Given the description of an element on the screen output the (x, y) to click on. 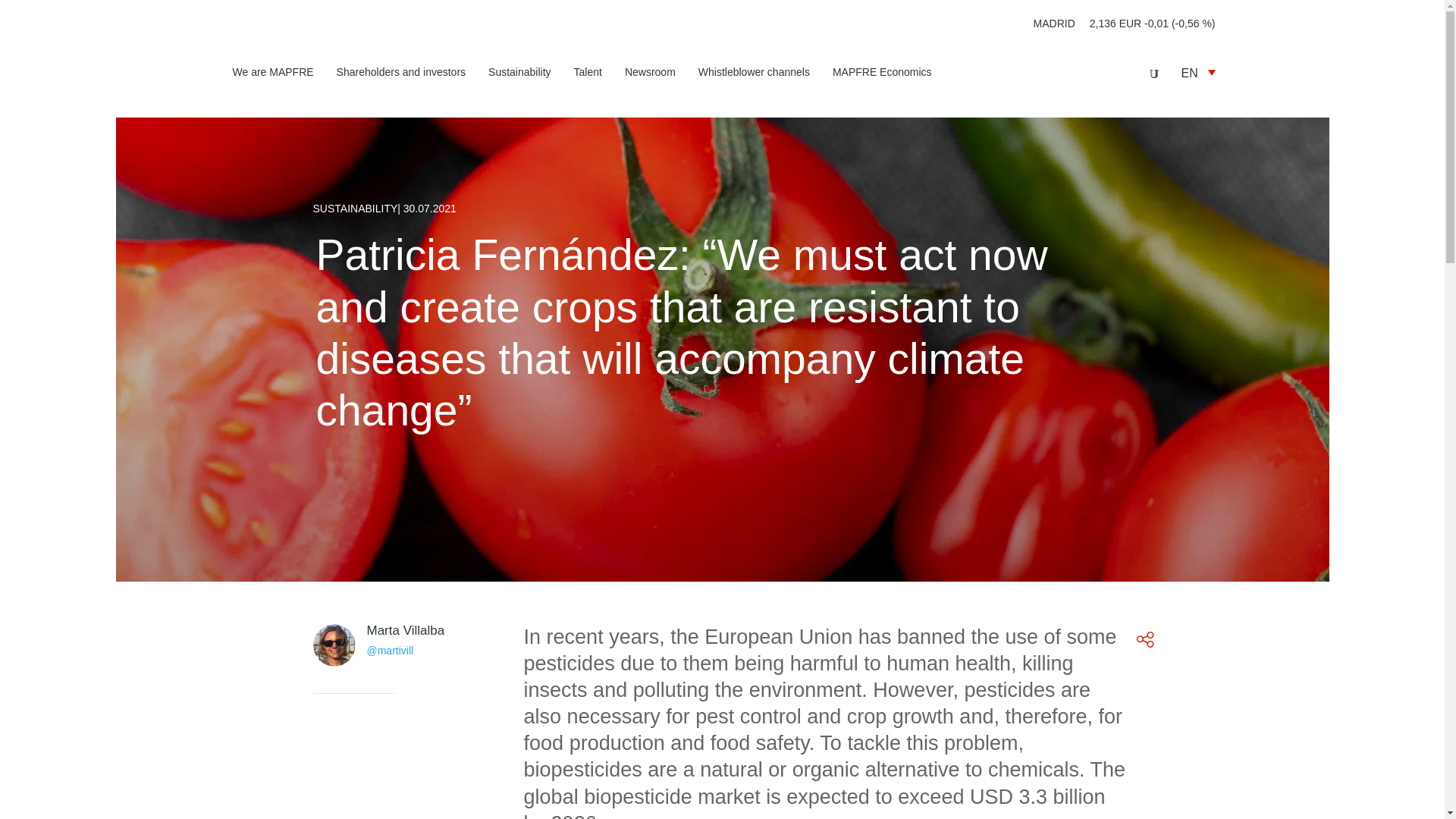
Shareholders and investors (400, 74)
We are MAPFRE (272, 74)
